Given the description of an element on the screen output the (x, y) to click on. 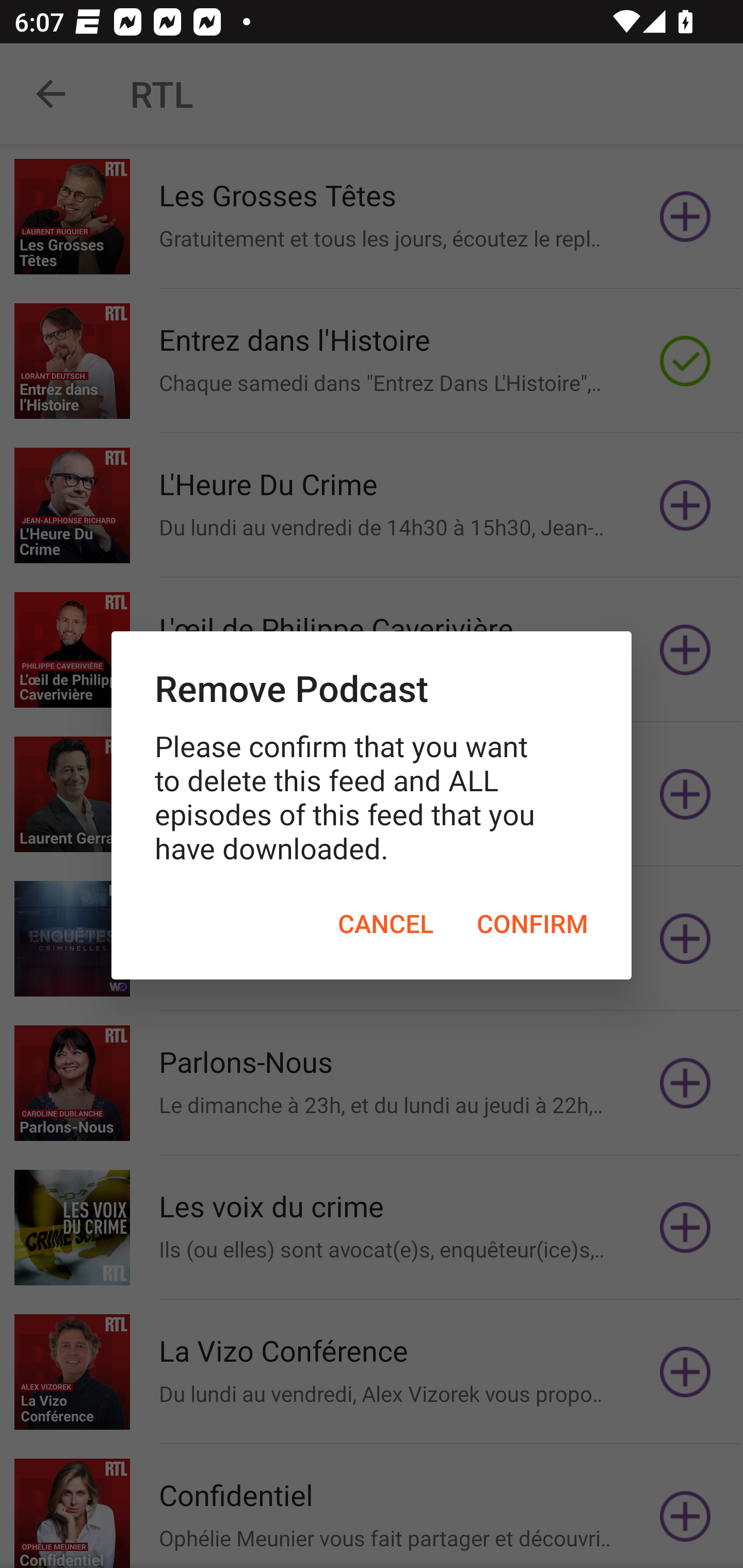
CANCEL (385, 923)
CONFIRM (532, 923)
